Given the description of an element on the screen output the (x, y) to click on. 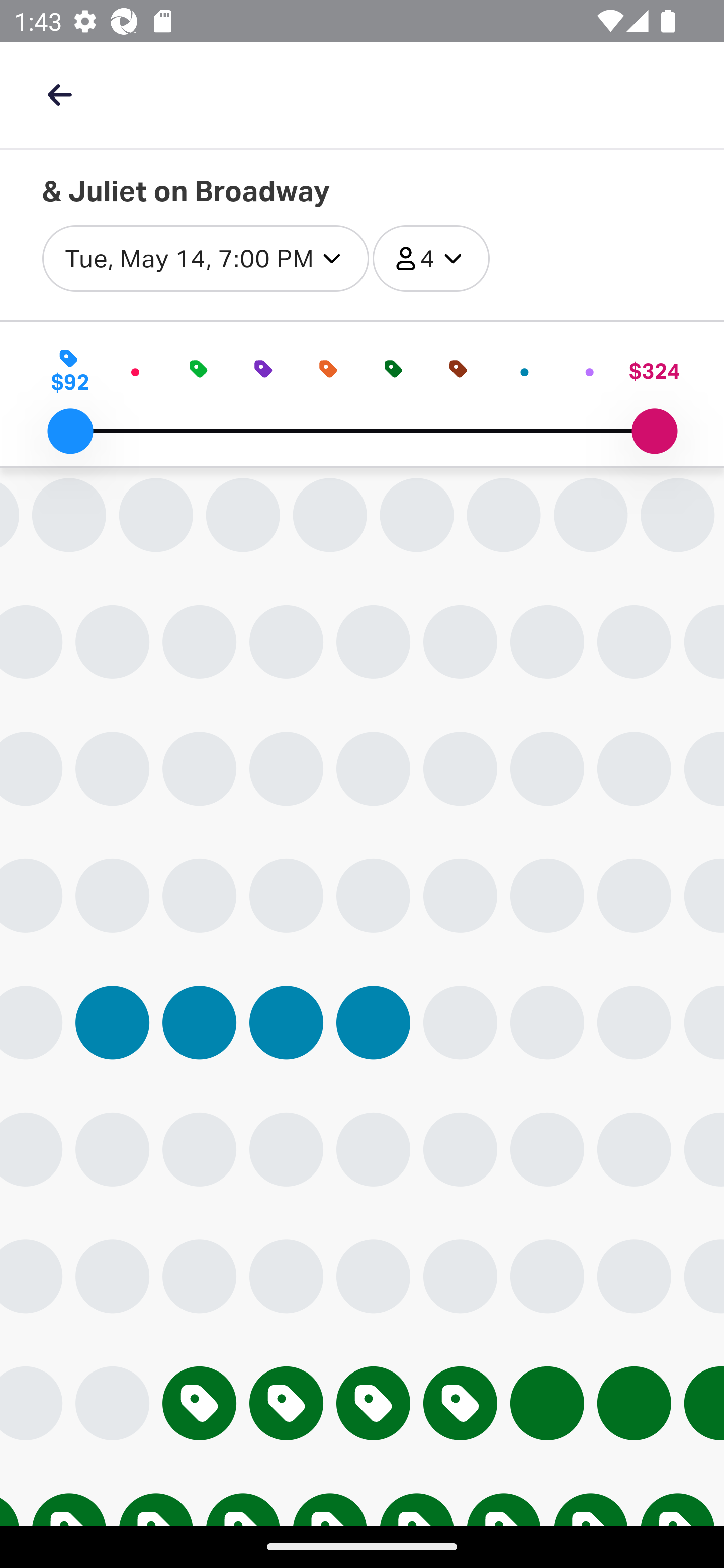
back button (59, 94)
Tue, May 14, 7:00 PM (205, 259)
4 (430, 259)
$92 (70, 370)
• (134, 370)
• (525, 370)
• (590, 370)
$324 (653, 370)
0.0 (69, 431)
100.0 (654, 431)
